Given the description of an element on the screen output the (x, y) to click on. 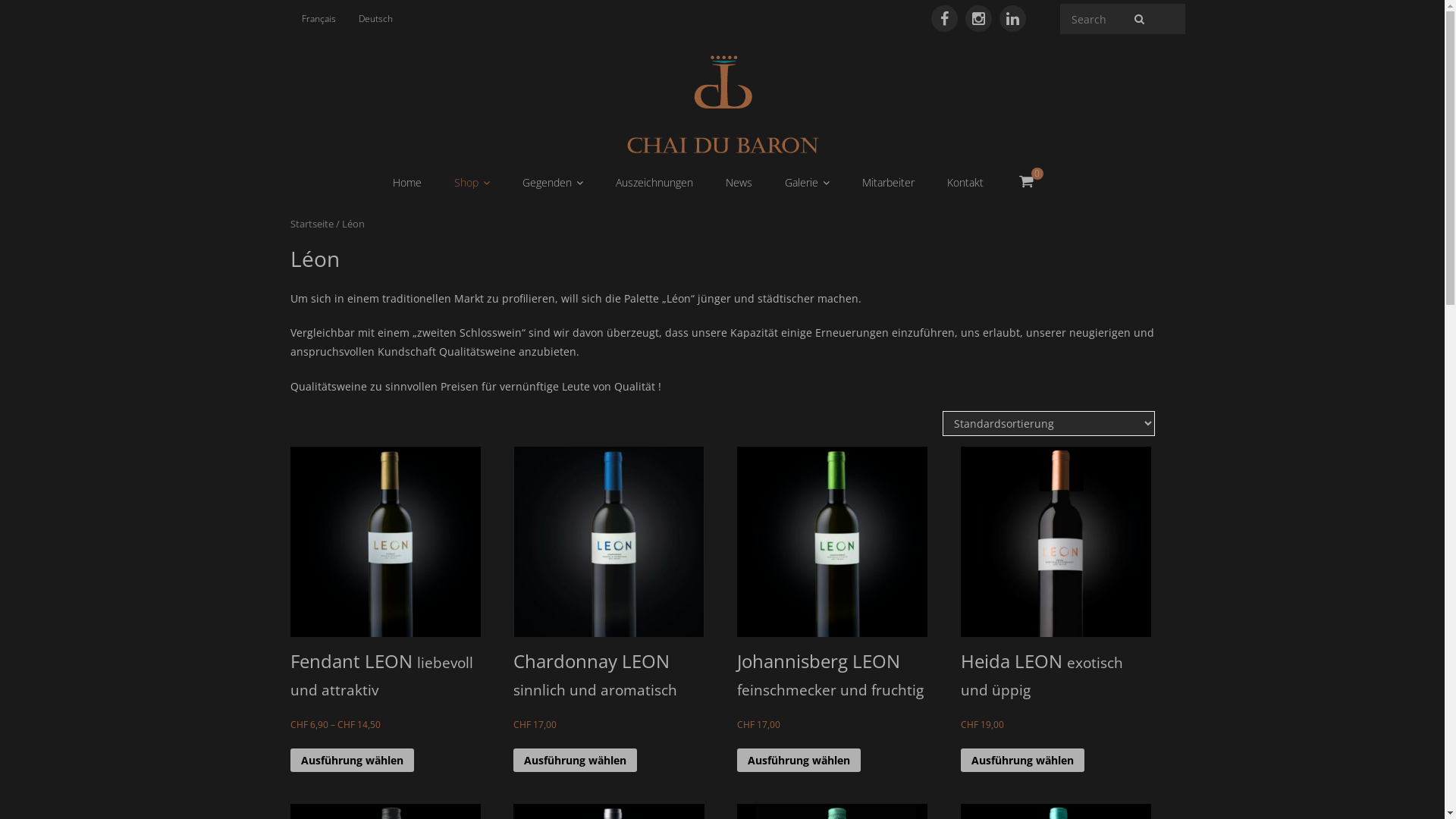
Deutsch Element type: text (375, 18)
0 Element type: text (1026, 180)
Johannisberg LEON feinschmecker und fruchtig
CHF 17,00 Element type: text (832, 606)
Startseite Element type: text (310, 223)
Galerie Element type: text (806, 182)
Chardonnay LEON sinnlich und aromatisch
CHF 17,00 Element type: text (608, 606)
Kontakt Element type: text (964, 182)
Home Element type: text (414, 182)
Search Element type: text (36, 17)
News Element type: text (737, 182)
Auszeichnungen Element type: text (654, 182)
Shop Element type: text (471, 182)
Mitarbeiter Element type: text (887, 182)
Gegenden Element type: text (551, 182)
